Given the description of an element on the screen output the (x, y) to click on. 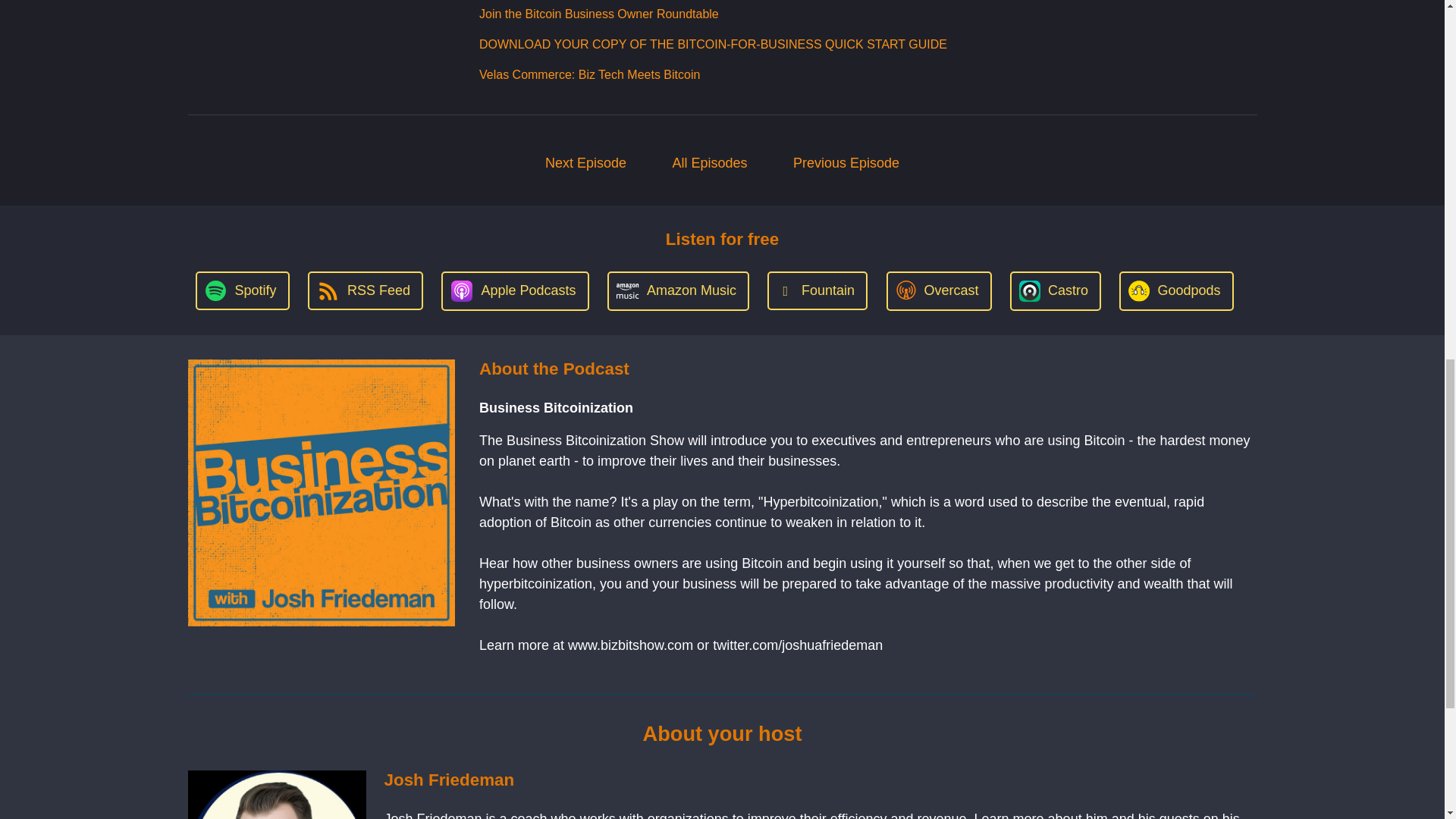
Goodpods (1176, 291)
Velas Commerce: Biz Tech Meets Bitcoin (589, 74)
Amazon Music (678, 291)
Fountain (817, 290)
All Episodes (709, 162)
Join the Bitcoin Business Owner Roundtable (599, 13)
Overcast (938, 291)
Castro (1055, 291)
Spotify (241, 290)
Previous Episode (845, 162)
Apple Podcasts (514, 291)
Next Episode (585, 162)
RSS Feed (365, 290)
